Given the description of an element on the screen output the (x, y) to click on. 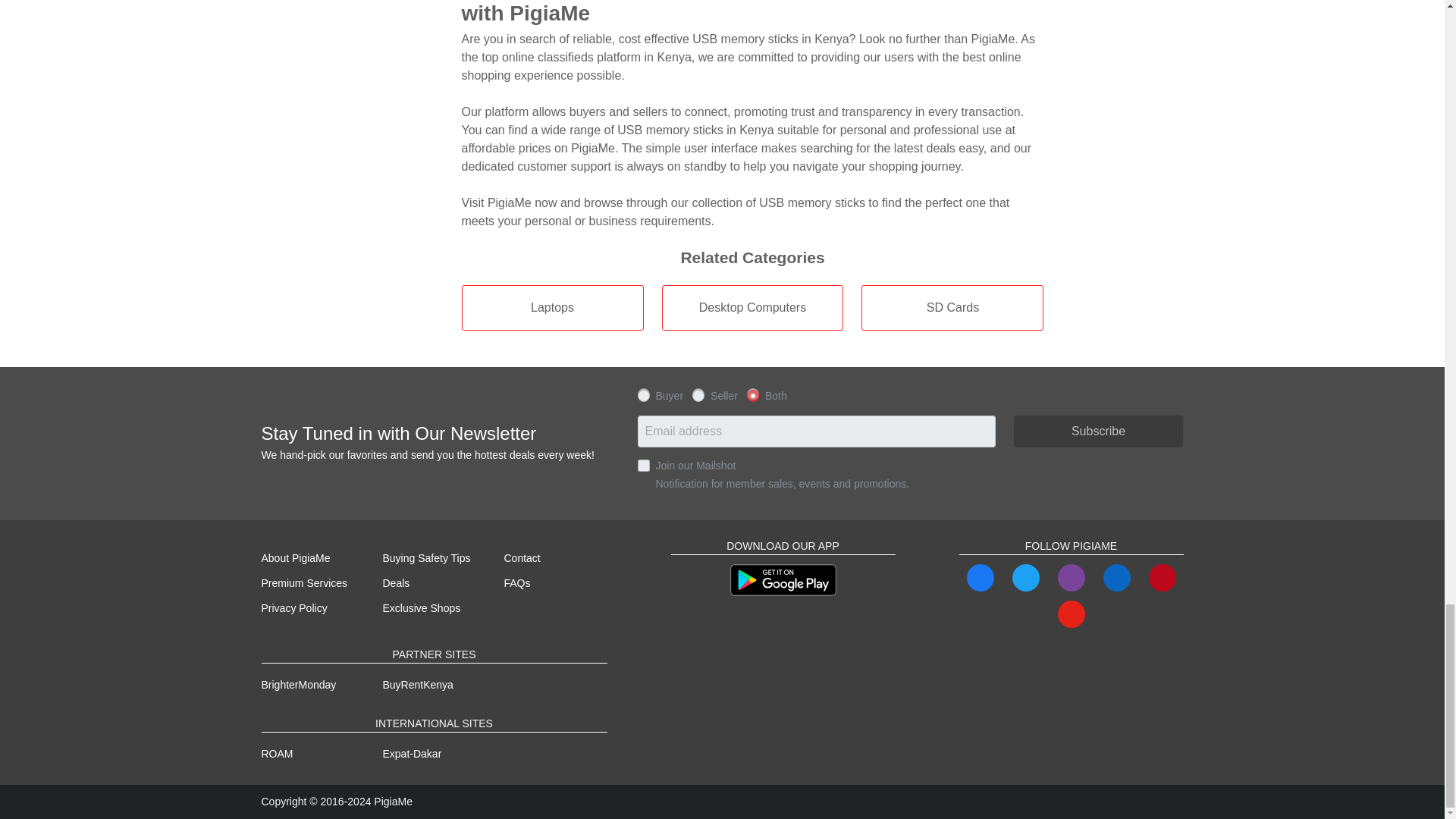
both (752, 394)
user (643, 394)
advertiser (698, 394)
1 (643, 465)
